Given the description of an element on the screen output the (x, y) to click on. 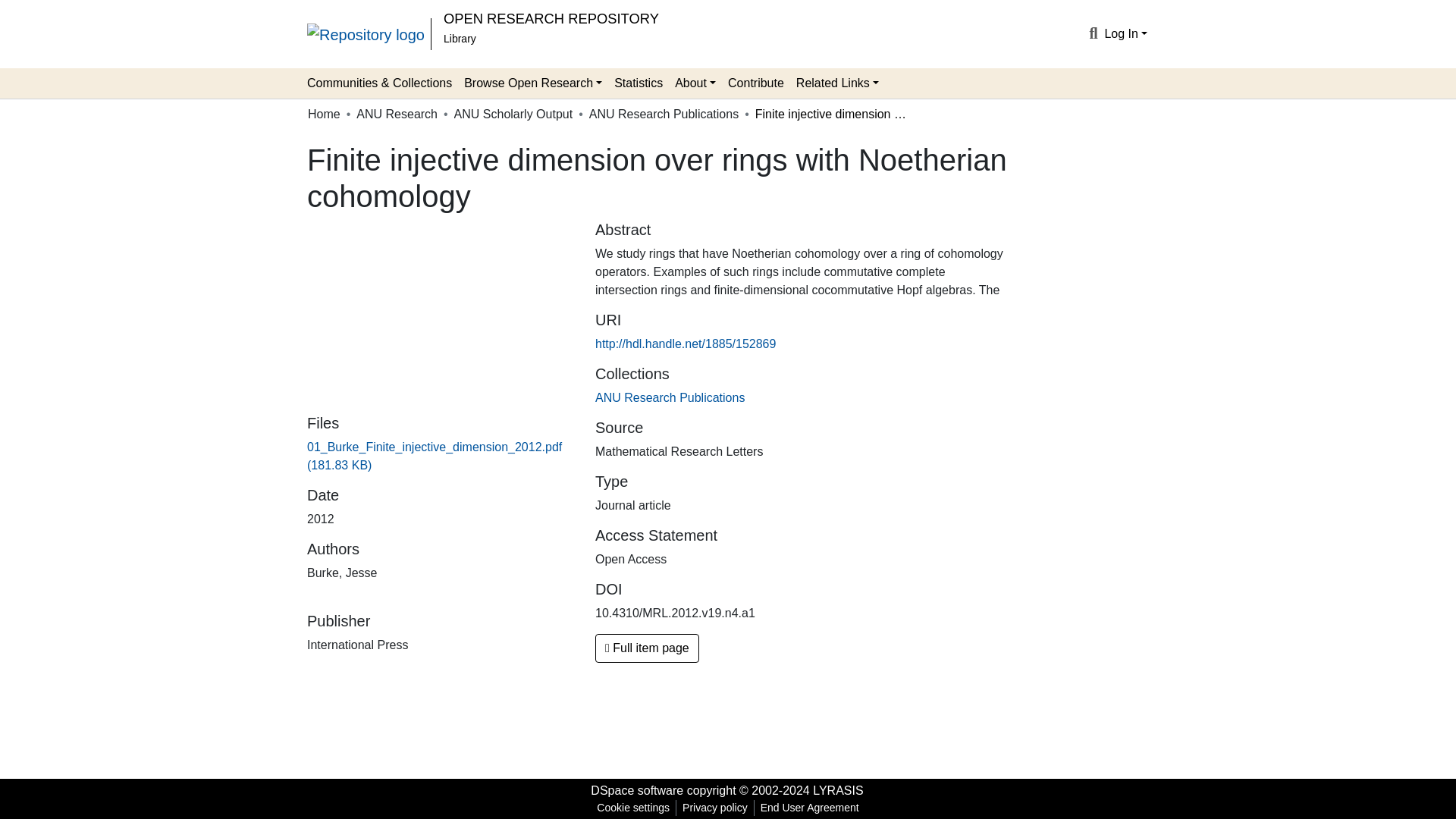
Home (323, 114)
Full item page (646, 647)
End User Agreement (809, 807)
OPEN RESEARCH REPOSITORY (551, 18)
Privacy policy (715, 807)
Related Links (837, 82)
Log In (1125, 33)
About (695, 82)
ANU Research Publications (663, 114)
ANU Scholarly Output (513, 114)
LYRASIS (837, 789)
Statistics (638, 82)
Statistics (638, 82)
Cookie settings (633, 807)
Library (460, 38)
